Given the description of an element on the screen output the (x, y) to click on. 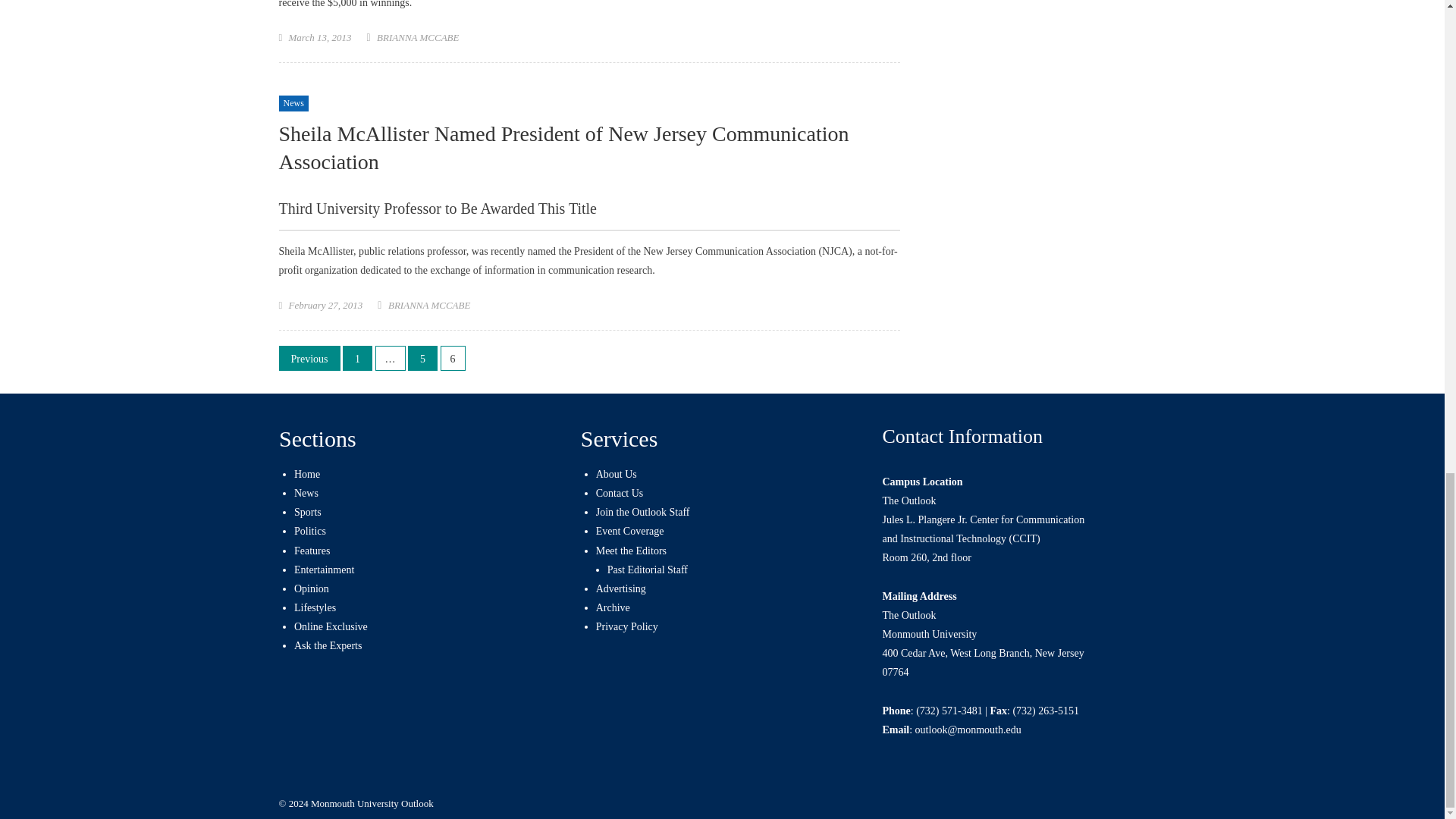
Posts by BRIANNA MCCABE (417, 37)
March 13, 2013 (319, 37)
Posts by BRIANNA MCCABE (429, 305)
News (293, 103)
BRIANNA MCCABE (417, 37)
